Given the description of an element on the screen output the (x, y) to click on. 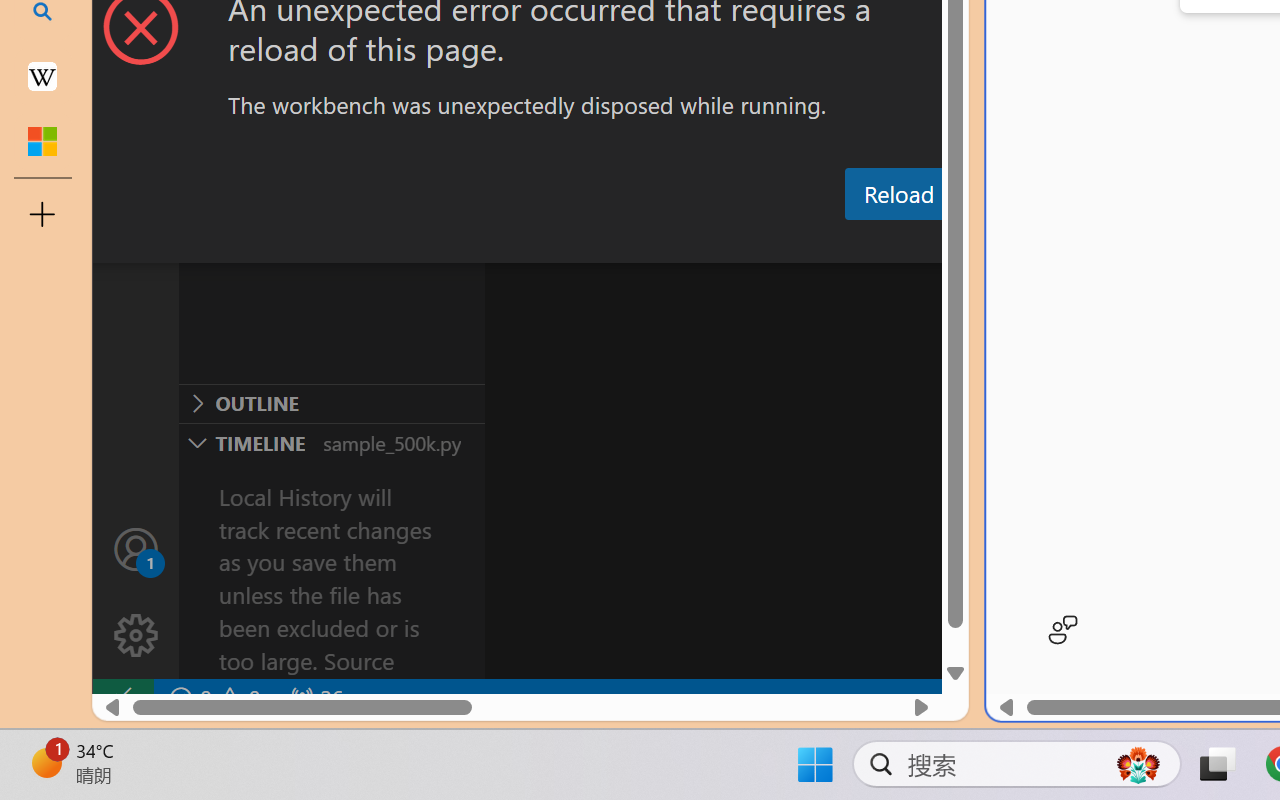
Earth - Wikipedia (42, 75)
Manage (135, 591)
Timeline Section (331, 442)
Reload (898, 193)
No Problems (212, 698)
Outline Section (331, 403)
Manage (135, 635)
Output (Ctrl+Shift+U) (696, 243)
Accounts - Sign in requested (135, 548)
